Given the description of an element on the screen output the (x, y) to click on. 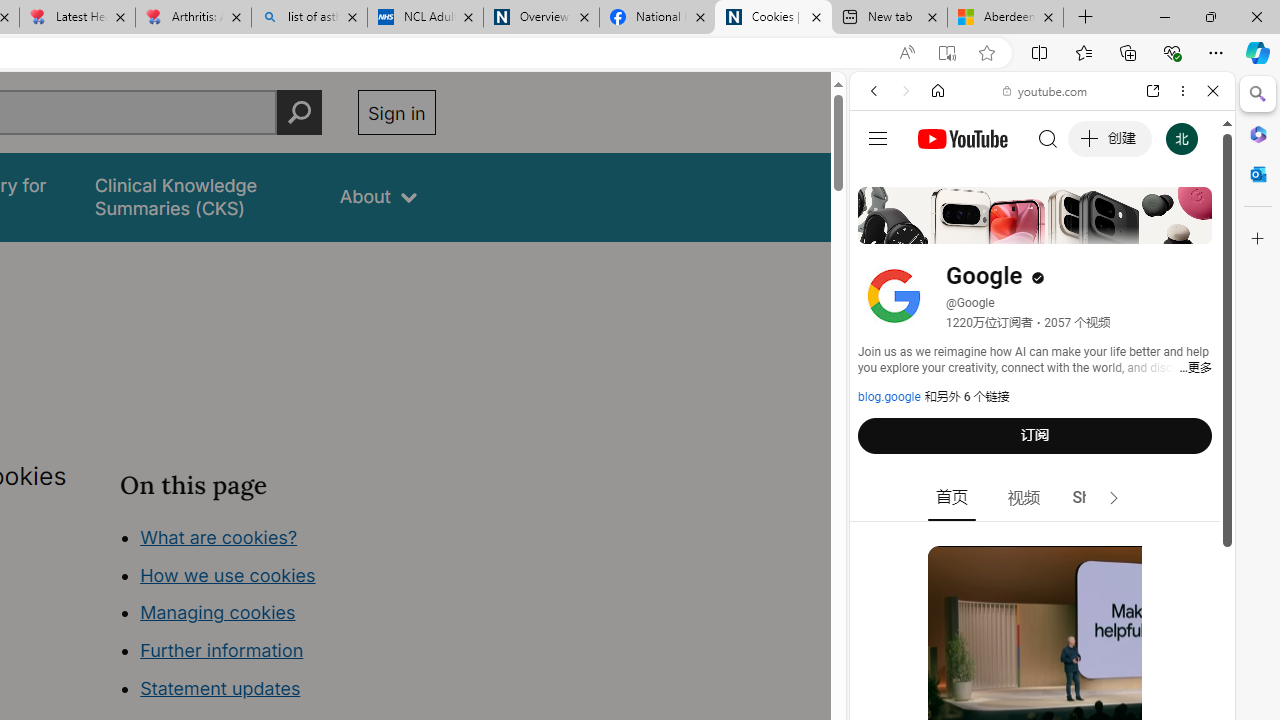
Search Filter, VIDEOS (1006, 228)
Music (1042, 543)
Cookies | About | NICE (772, 17)
AutomationID: right (1113, 497)
Aberdeen, Hong Kong SAR hourly forecast | Microsoft Weather (1005, 17)
